Given the description of an element on the screen output the (x, y) to click on. 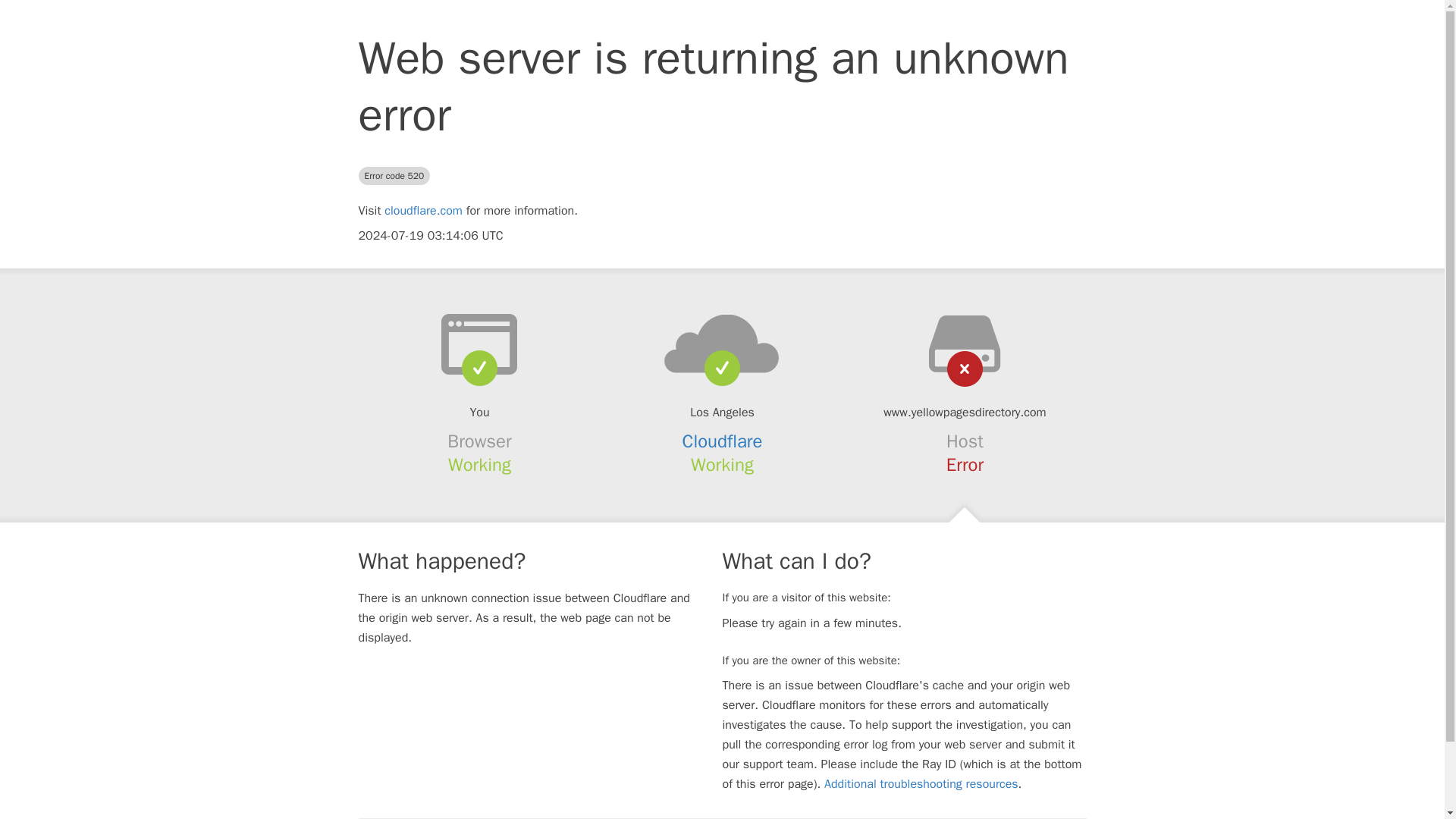
Additional troubleshooting resources (920, 783)
Cloudflare (722, 440)
cloudflare.com (423, 210)
